Given the description of an element on the screen output the (x, y) to click on. 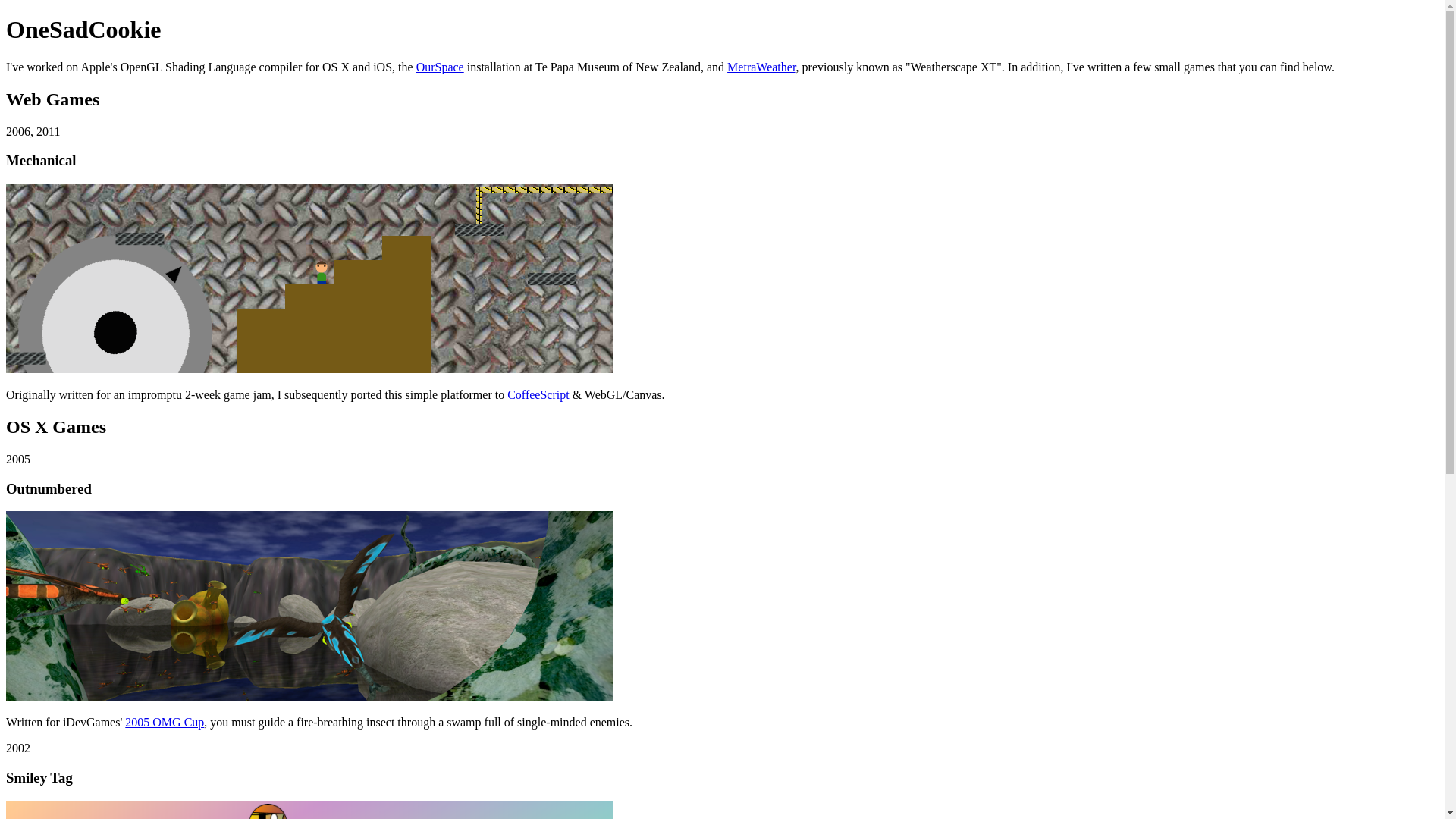
MetraWeather (760, 66)
CoffeeScript (537, 394)
2005 OMG Cup (164, 721)
OurSpace (440, 66)
